Given the description of an element on the screen output the (x, y) to click on. 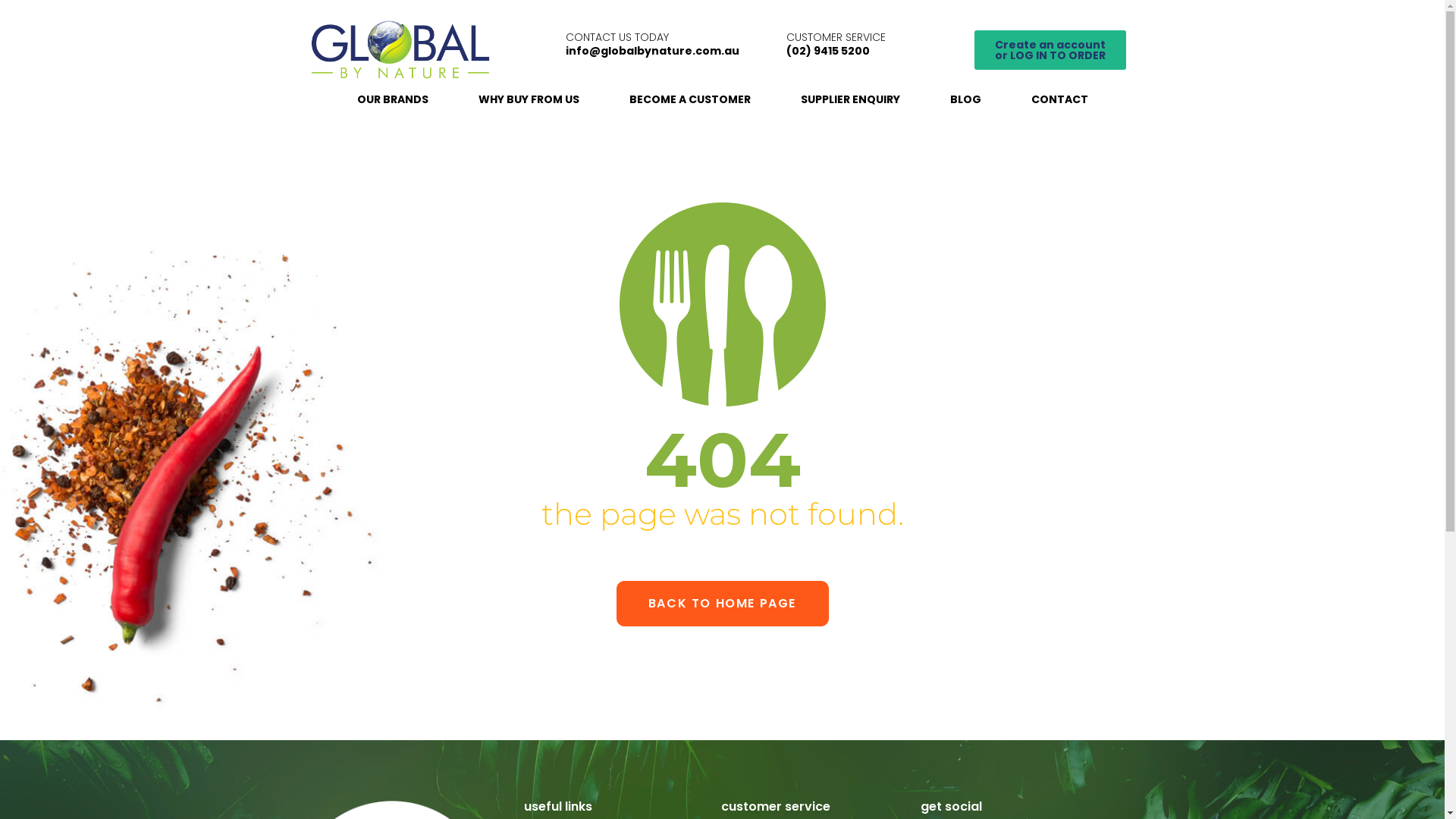
info@globalbynature.com.au Element type: text (652, 50)
Create an account or LOG IN TO ORDER Element type: text (1050, 49)
OUR BRANDS Element type: text (391, 99)
CONTACT Element type: text (1059, 99)
BECOME A CUSTOMER Element type: text (689, 99)
BACK TO HOME PAGE Element type: text (721, 603)
WHY BUY FROM US Element type: text (527, 99)
BLOG Element type: text (964, 99)
(02) 9415 5200 Element type: text (827, 50)
SUPPLIER ENQUIRY Element type: text (850, 99)
